Given the description of an element on the screen output the (x, y) to click on. 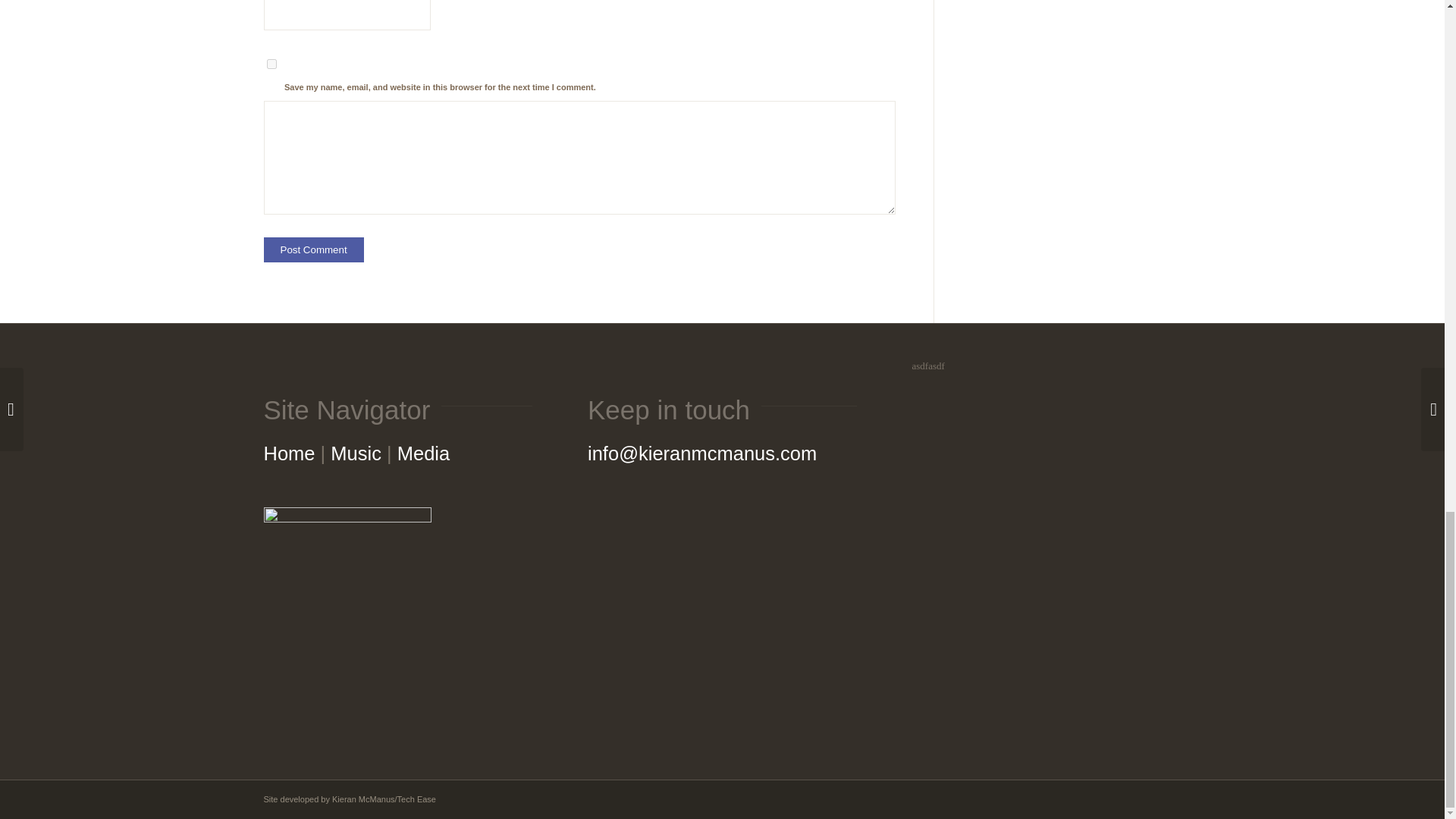
Post Comment (313, 249)
Music (355, 453)
Post Comment (313, 249)
Music (355, 453)
Home (289, 453)
yes (271, 62)
Media (423, 453)
Blog (423, 453)
Home (289, 453)
